Given the description of an element on the screen output the (x, y) to click on. 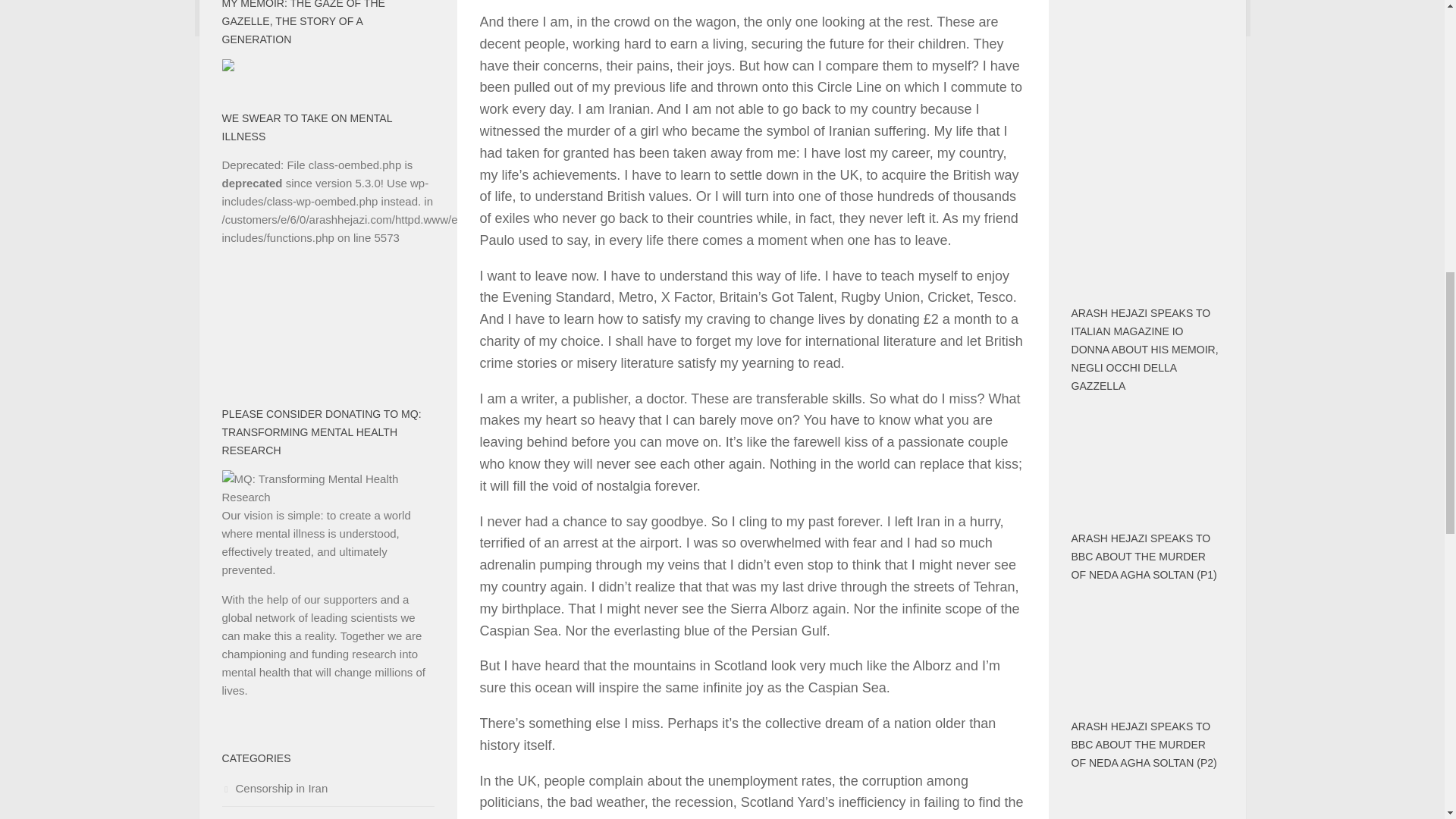
Neda  Arash Hejazi Part 1 (1146, 637)
NEGLI OCCHI DELLA GAZZELLA (1146, 448)
Neda  Arash Hejazi Part 2 (1146, 800)
